Given the description of an element on the screen output the (x, y) to click on. 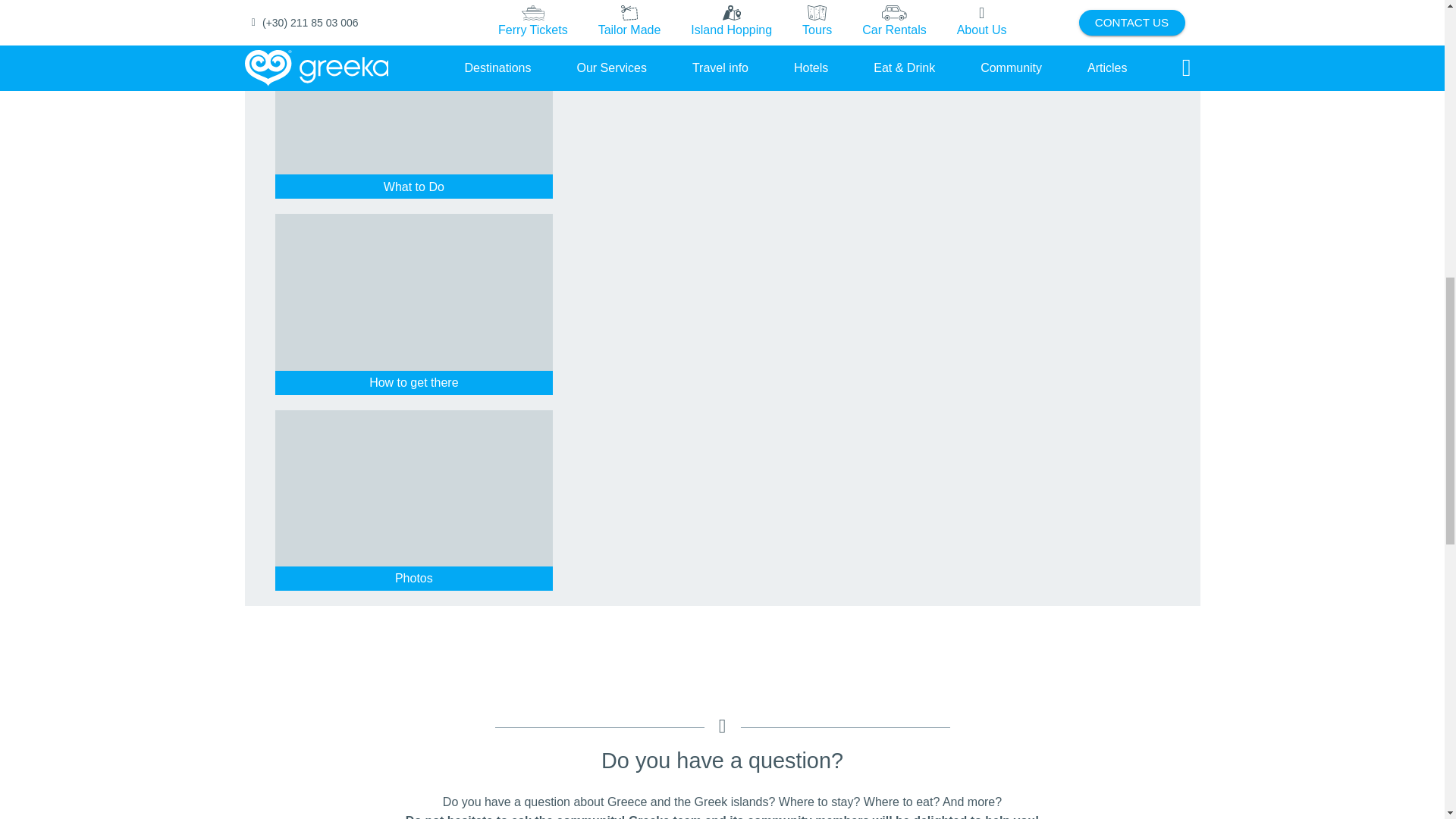
What to Do (414, 187)
How to get there (414, 383)
What to Do (414, 187)
